Given the description of an element on the screen output the (x, y) to click on. 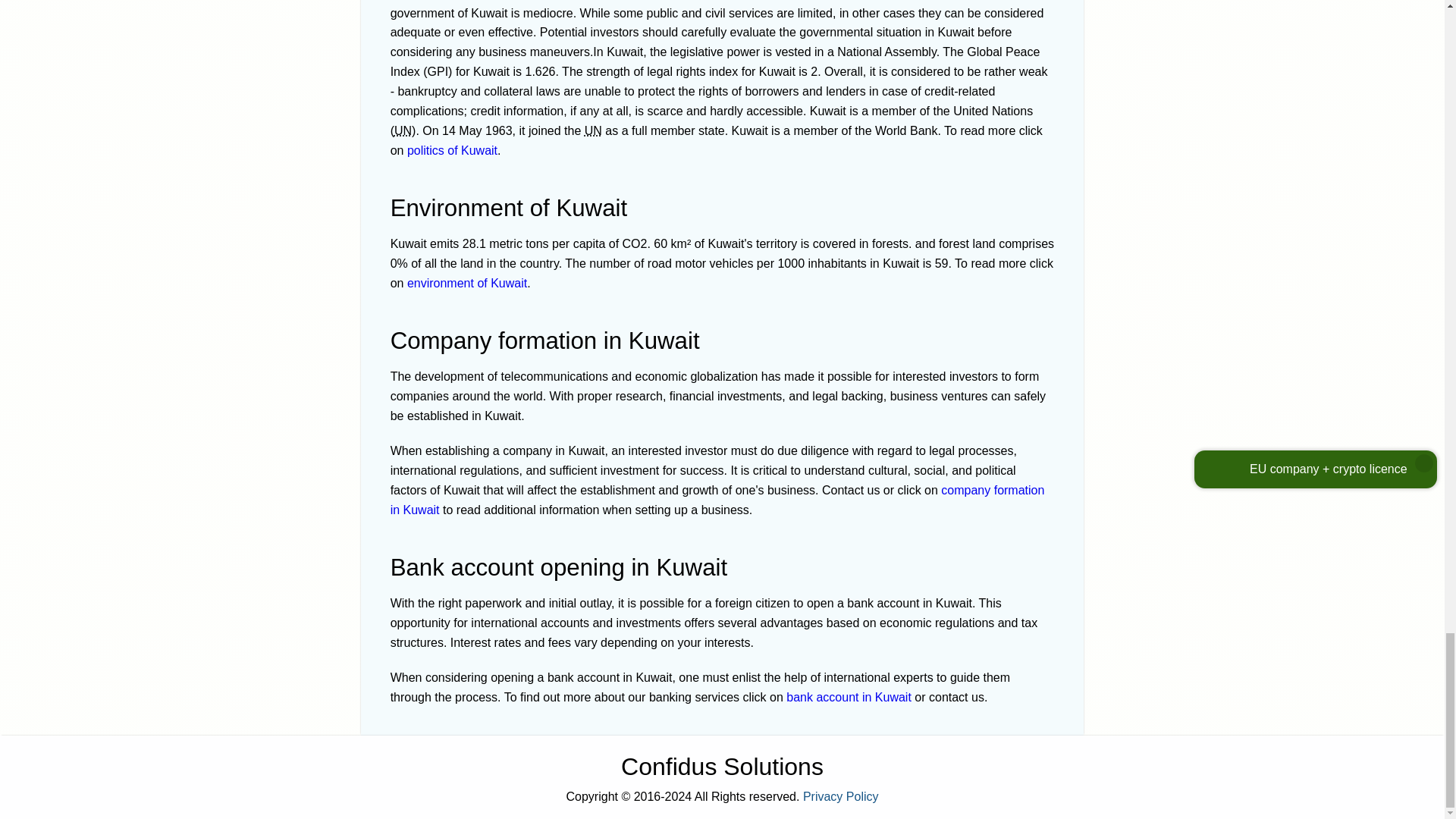
environment of Kuwait (467, 282)
company formation in Kuwait (717, 500)
bank account in Kuwait (848, 697)
politics of Kuwait (452, 150)
Privacy Policy (841, 796)
